Given the description of an element on the screen output the (x, y) to click on. 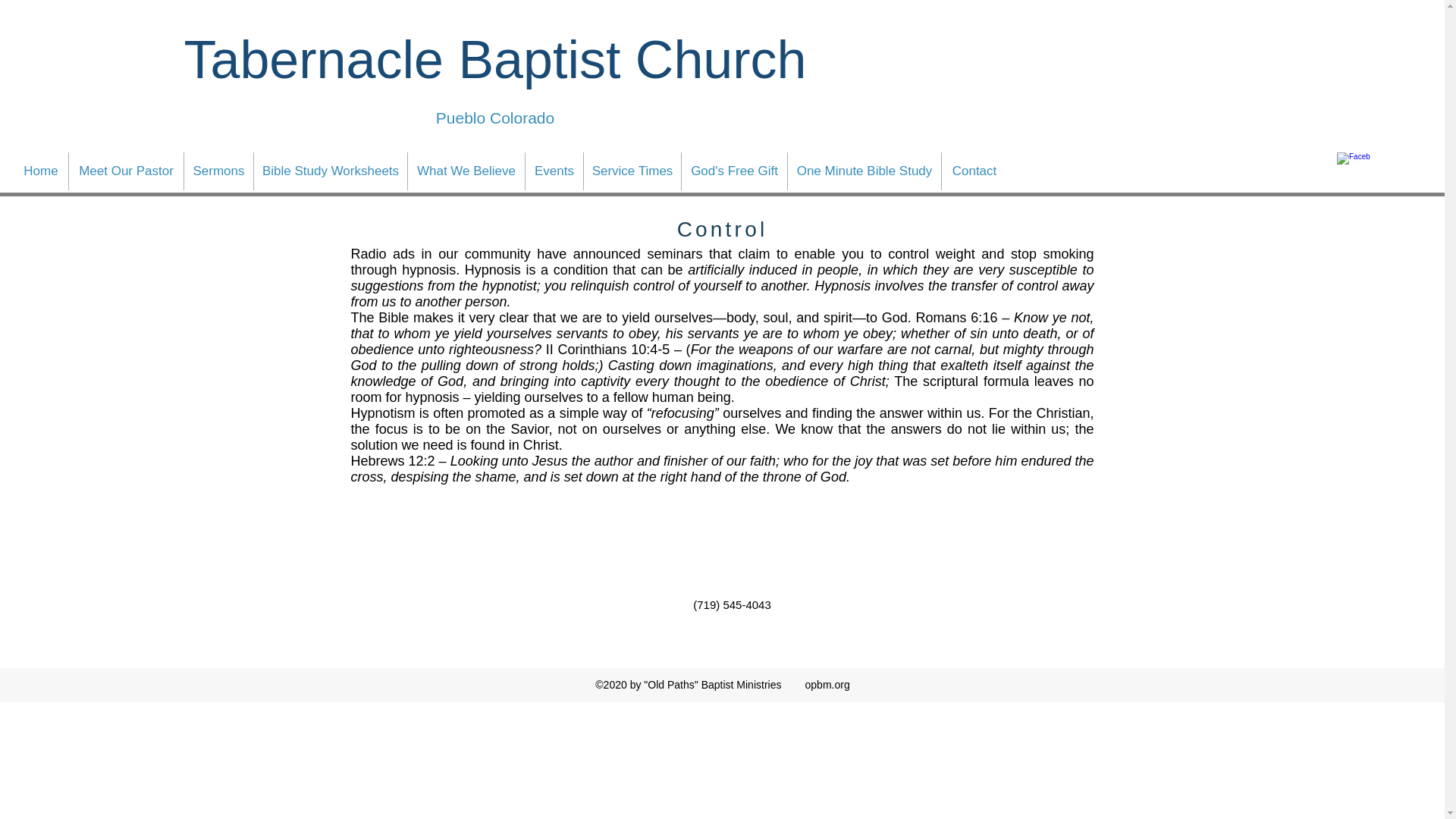
Tabernacle Baptist Church (494, 59)
Contact (973, 171)
Sermons (218, 171)
Meet Our Pastor (125, 171)
Home (40, 171)
Events (553, 171)
God's Free Gift (734, 171)
Bible Study Worksheets (330, 171)
One Minute Bible Study (863, 171)
What We Believe (465, 171)
Service Times (632, 171)
